Given the description of an element on the screen output the (x, y) to click on. 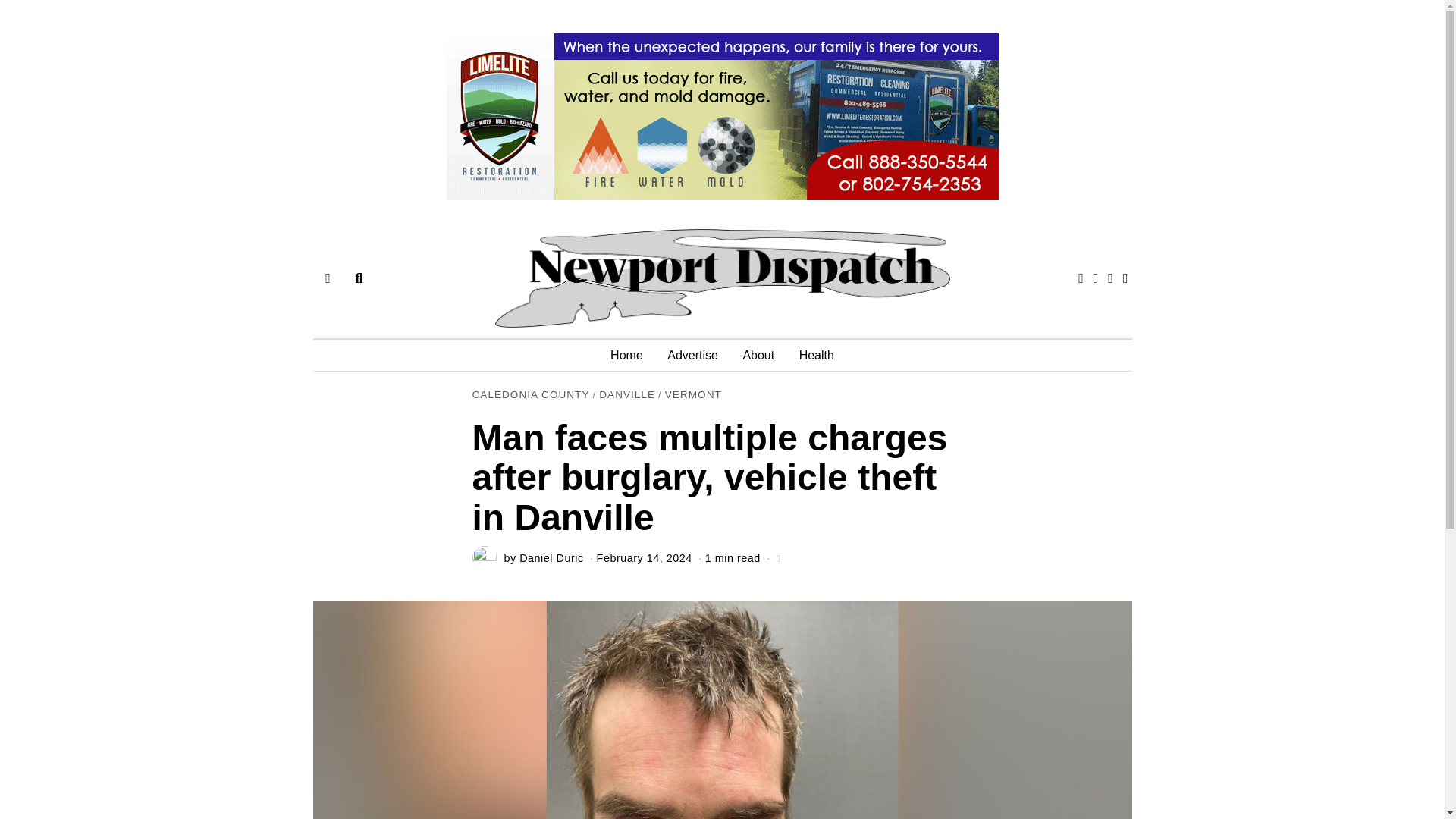
About (758, 355)
Home (626, 355)
Daniel Duric (551, 558)
Advertise (692, 355)
Health (816, 355)
DANVILLE (626, 395)
VERMONT (693, 395)
CALEDONIA COUNTY (530, 395)
